Given the description of an element on the screen output the (x, y) to click on. 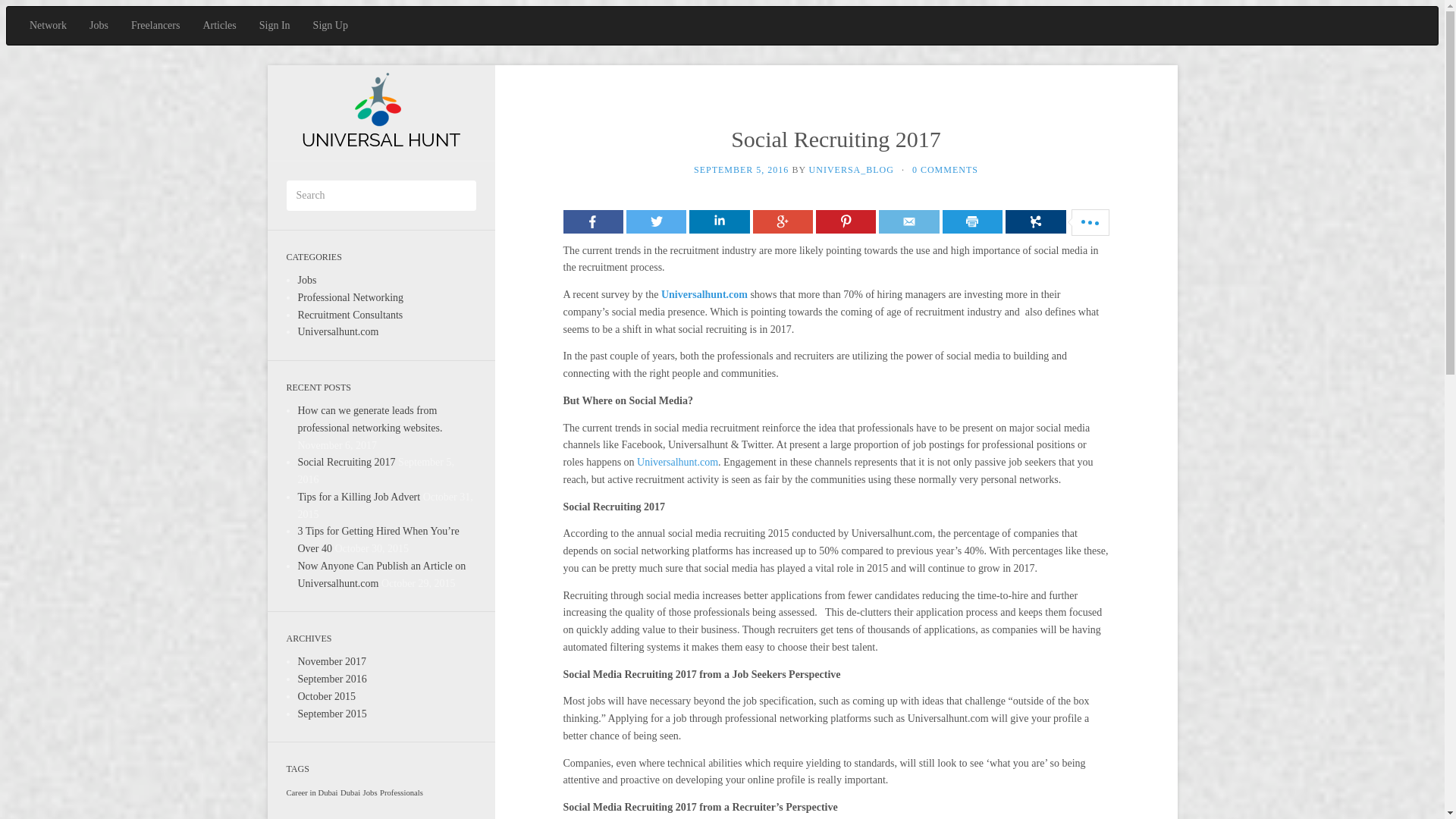
Professionals (401, 792)
September 2015 (331, 713)
Twitter (655, 220)
more... (1035, 220)
Universal Hunt (380, 112)
Recruitment Consultants (350, 315)
1 topic (311, 792)
Search (20, 11)
Professional Networking (350, 297)
Now Anyone Can Publish an Article on Universalhunt.com (381, 574)
Email (909, 220)
total shares (1089, 222)
Career in Dubai (311, 792)
LinkedIn (718, 220)
1 topic (369, 792)
